Given the description of an element on the screen output the (x, y) to click on. 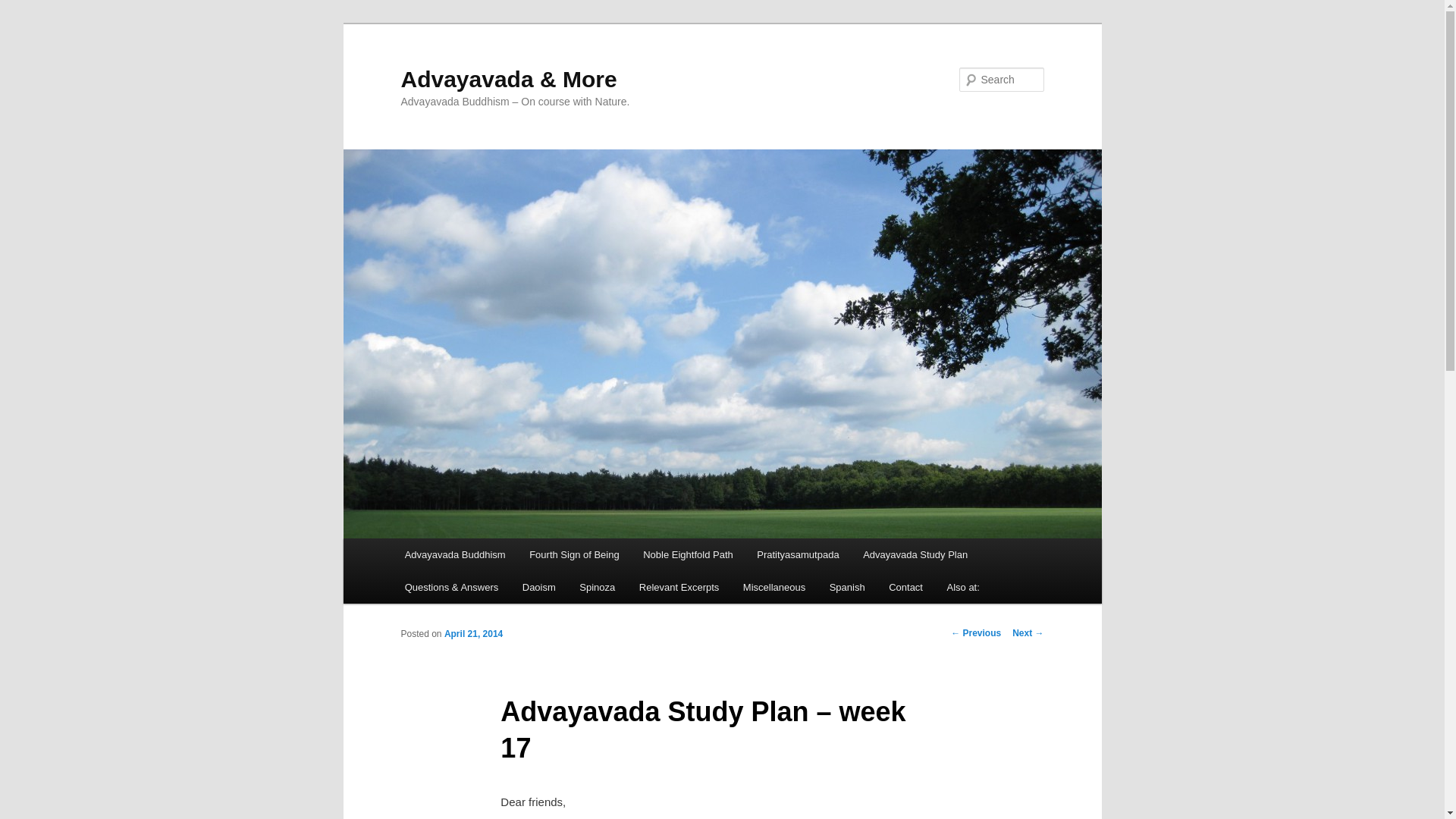
Search (24, 8)
Noble Eightfold Path (687, 554)
10:26 (473, 633)
Fourth Sign of Being (573, 554)
Spinoza (597, 586)
Contact (905, 586)
Daoism (539, 586)
Spanish (846, 586)
Advayavada Study Plan (914, 554)
Also at: (962, 586)
April 21, 2014 (473, 633)
Relevant Excerpts (678, 586)
Miscellaneous (773, 586)
Pratityasamutpada (797, 554)
